Given the description of an element on the screen output the (x, y) to click on. 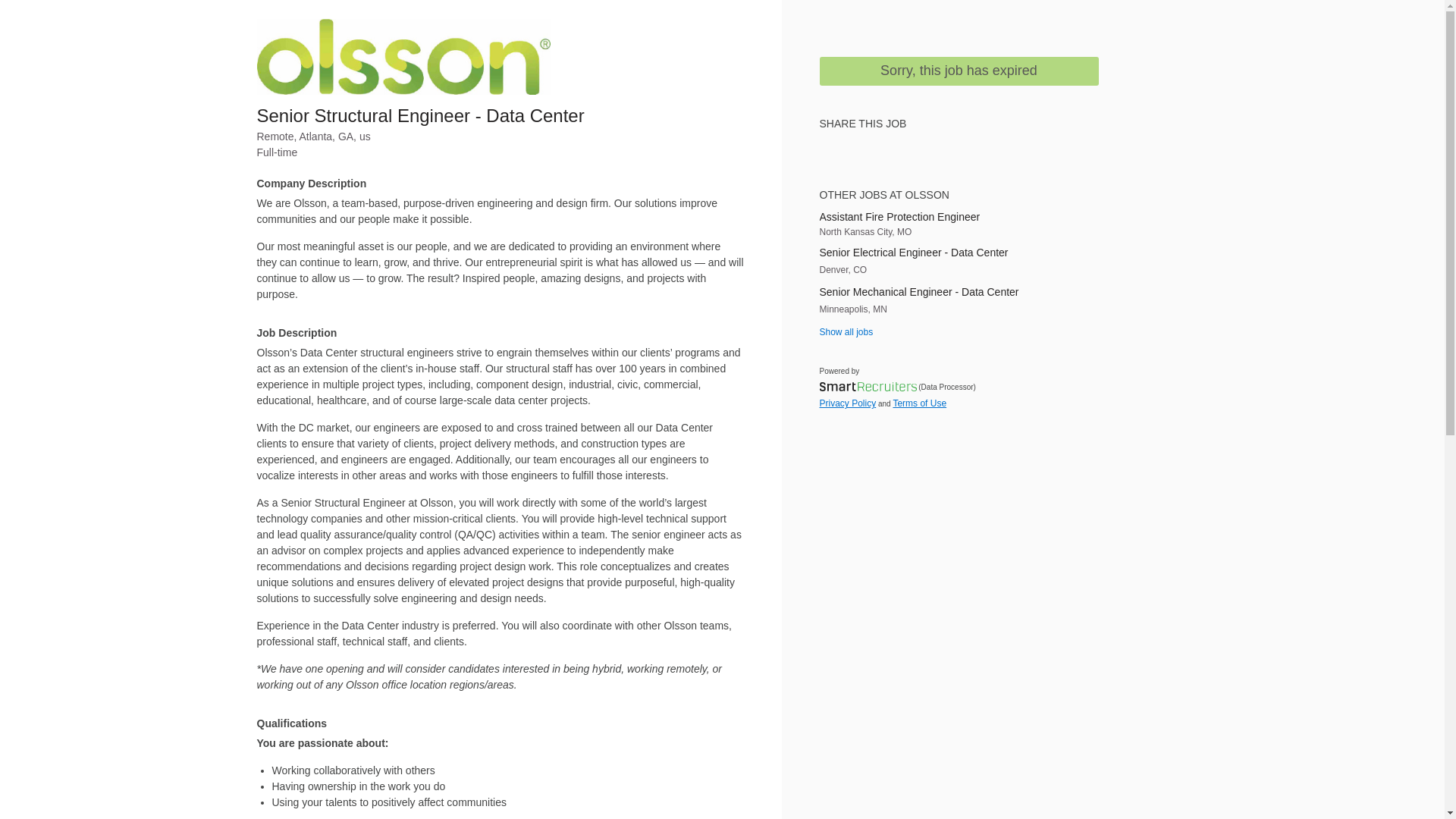
SmartRecruiters (866, 386)
Privacy Policy (847, 403)
Senior Electrical Engineer - Data Center (957, 252)
Senior Mechanical Engineer - Data Center (957, 291)
Senior Mechanical Engineer - Data Center (957, 291)
Sorry, this job has expired (957, 70)
Olsson (403, 56)
Assistant Fire Protection Engineer (957, 216)
Terms of Use (919, 403)
Senior Electrical Engineer - Data Center (957, 252)
Assistant Fire Protection Engineer (957, 216)
Show all jobs (845, 331)
